Given the description of an element on the screen output the (x, y) to click on. 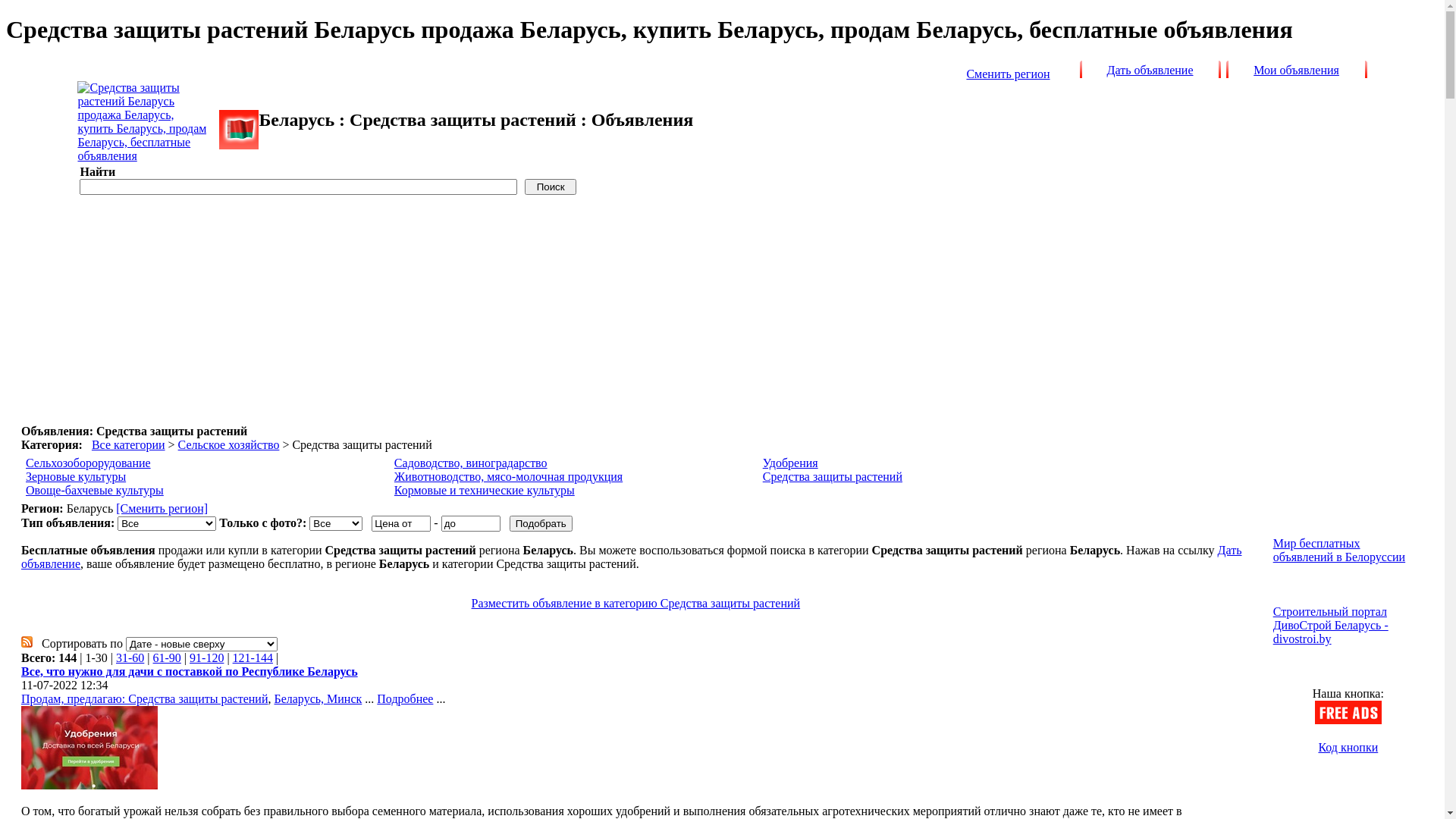
61-90 Element type: text (167, 657)
freeads.by Element type: hover (238, 129)
Advertisement Element type: hover (532, 303)
121-144 Element type: text (252, 657)
91-120 Element type: text (206, 657)
Advertisement Element type: hover (1341, 458)
31-60 Element type: text (130, 657)
